Given the description of an element on the screen output the (x, y) to click on. 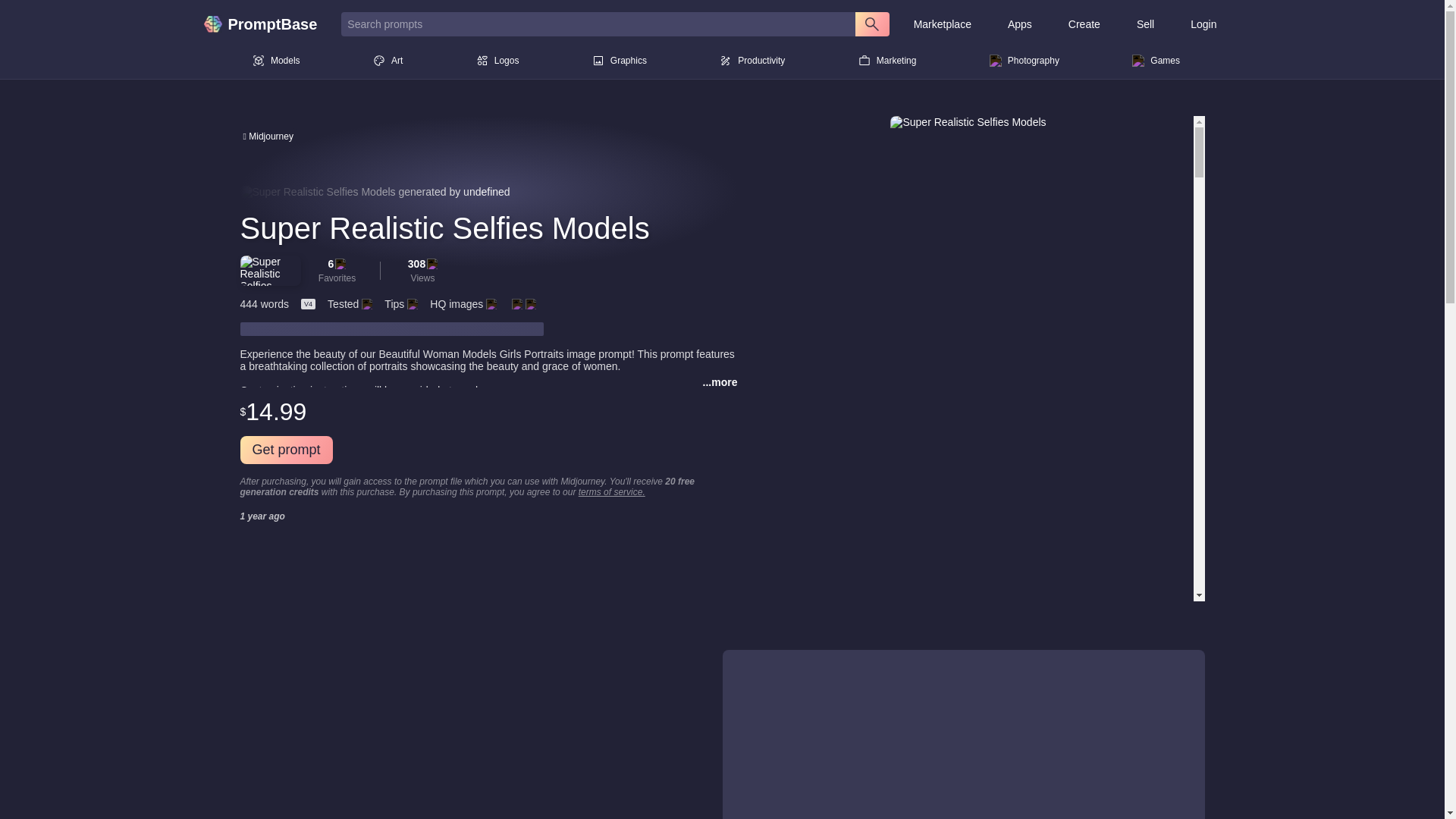
Apps (1019, 24)
Logos (497, 60)
Marketplace (942, 24)
PromptBase (266, 24)
Sell (1145, 24)
Art (387, 60)
Games (1155, 60)
midjourney prompts (267, 135)
Photography (1023, 60)
Marketing (886, 60)
Graphics (619, 60)
Login (1202, 24)
Create (1084, 24)
Models (276, 60)
Productivity (751, 60)
